Given the description of an element on the screen output the (x, y) to click on. 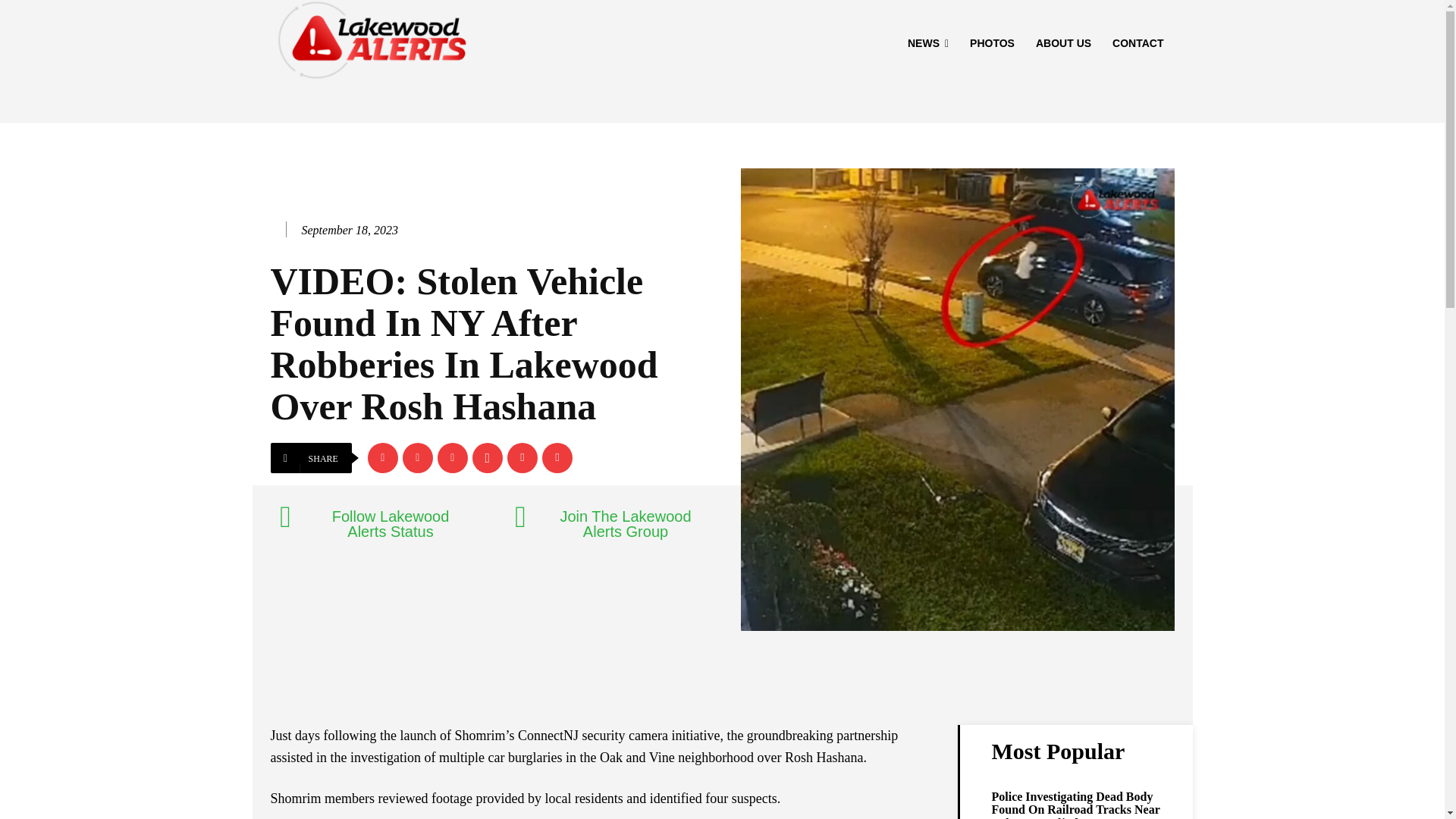
Twitter (417, 458)
Email (521, 458)
Print (556, 458)
WhatsApp (486, 458)
ABOUT US (1063, 43)
PHOTOS (992, 43)
Linkedin (452, 458)
CONTACT (1137, 43)
Facebook (382, 458)
NEWS (927, 43)
